Given the description of an element on the screen output the (x, y) to click on. 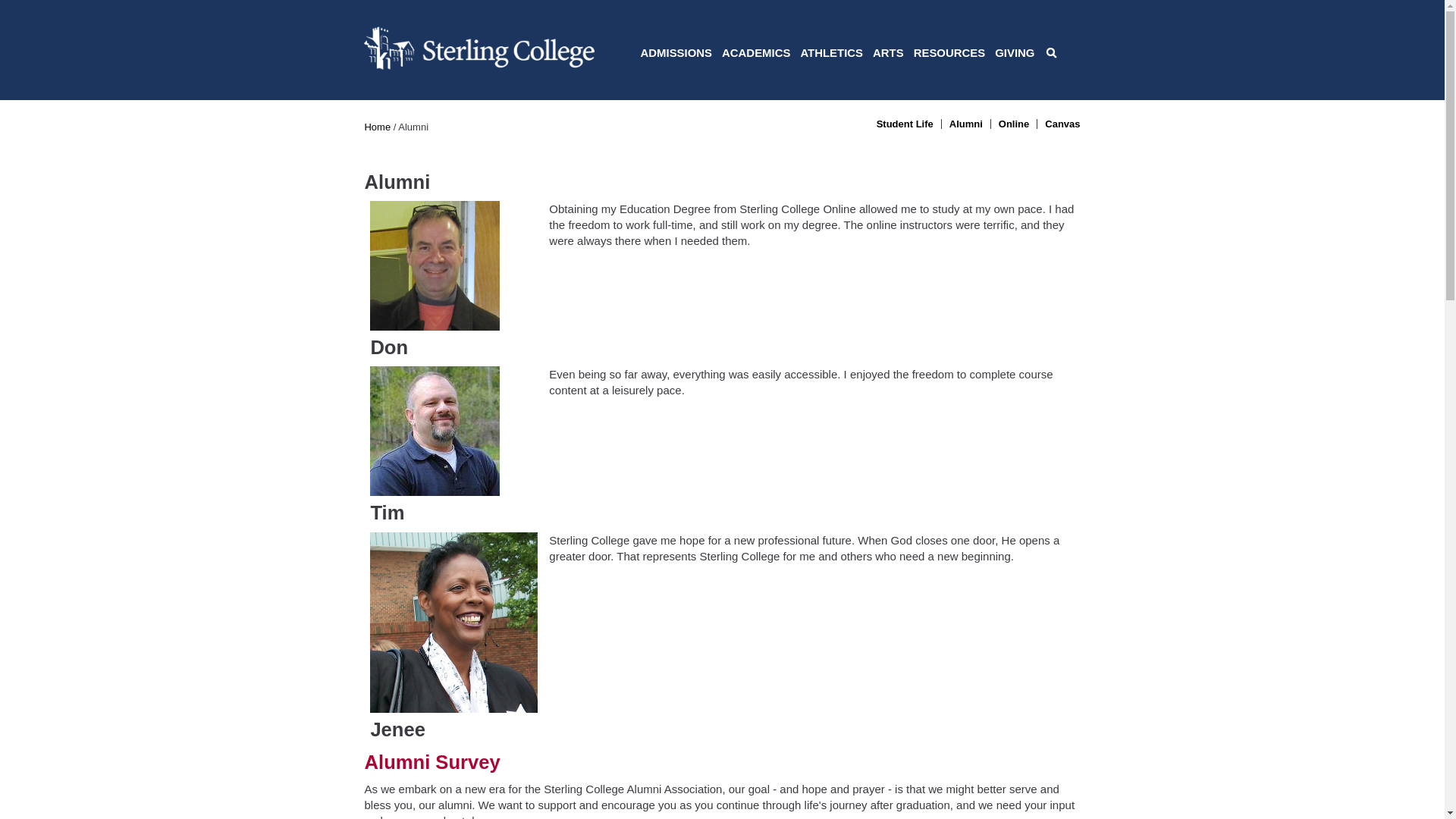
ADMISSIONS (676, 53)
ATHLETICS (831, 53)
ACADEMICS (755, 53)
ARTS (888, 53)
Home (479, 65)
RESOURCES (950, 53)
